Given the description of an element on the screen output the (x, y) to click on. 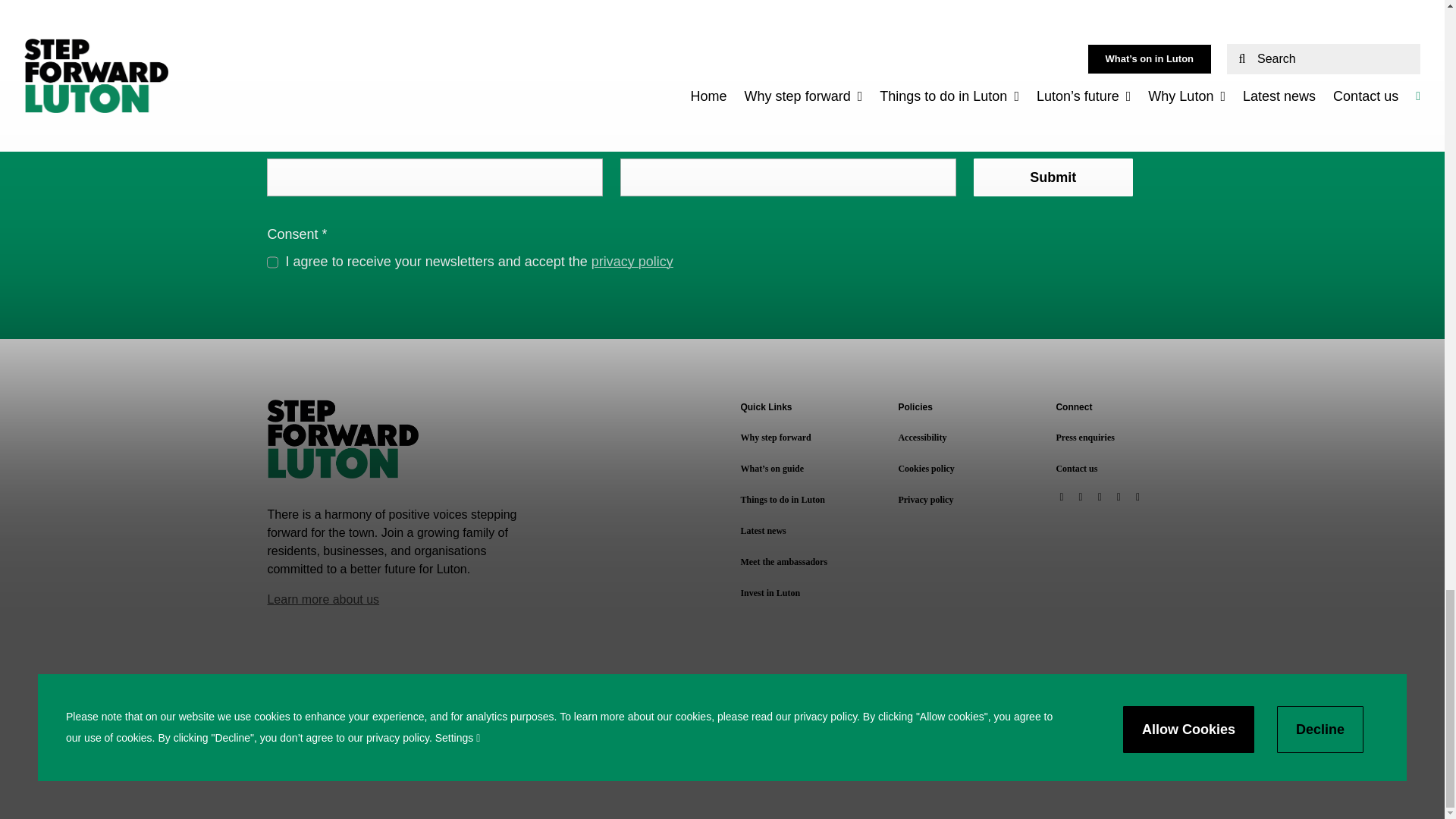
required (324, 233)
